Given the description of an element on the screen output the (x, y) to click on. 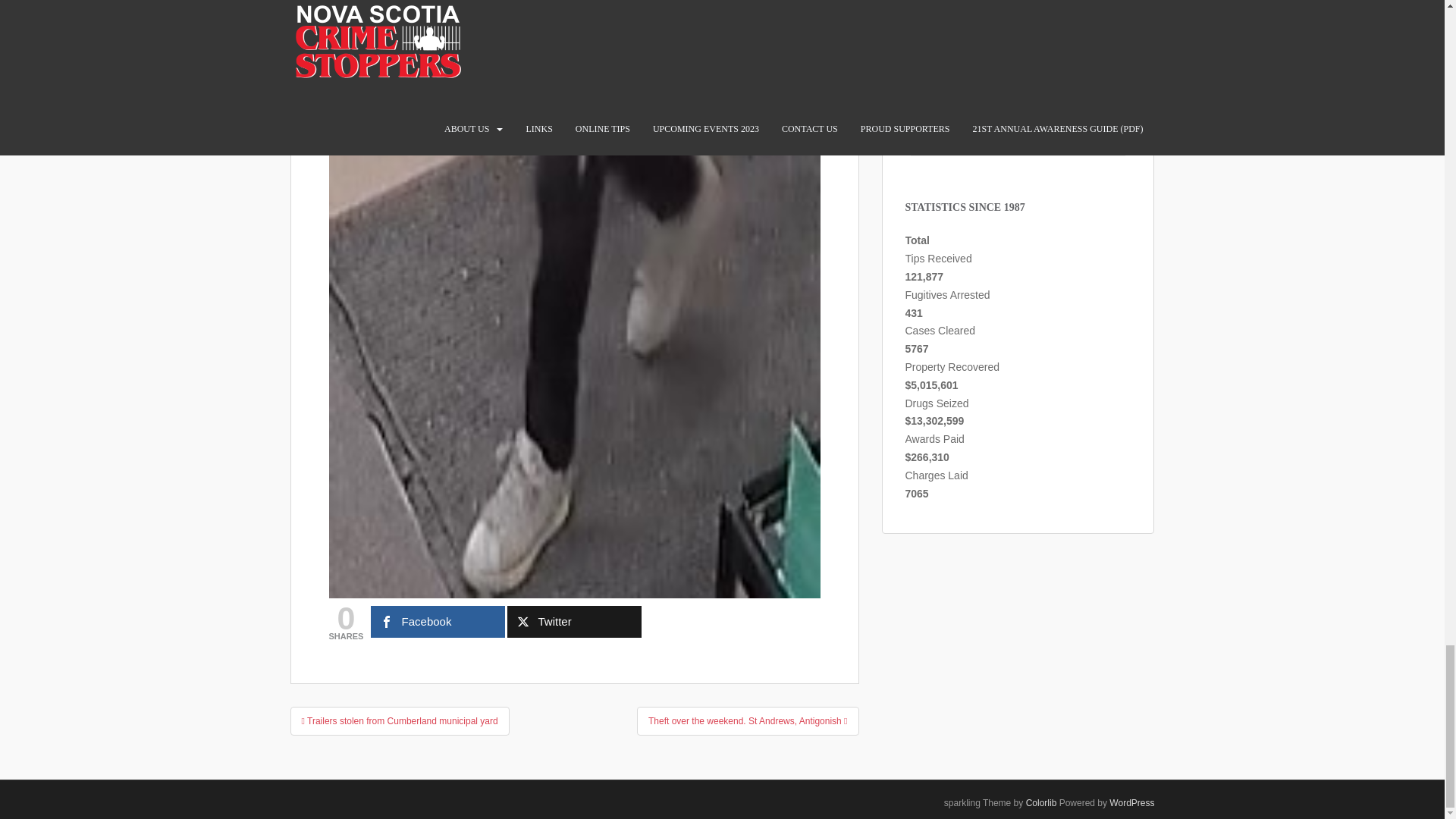
Trailers stolen from Cumberland municipal yard (398, 720)
Facebook (438, 622)
Twitter (574, 622)
Theft over the weekend. St Andrews, Antigonish (748, 720)
